Given the description of an element on the screen output the (x, y) to click on. 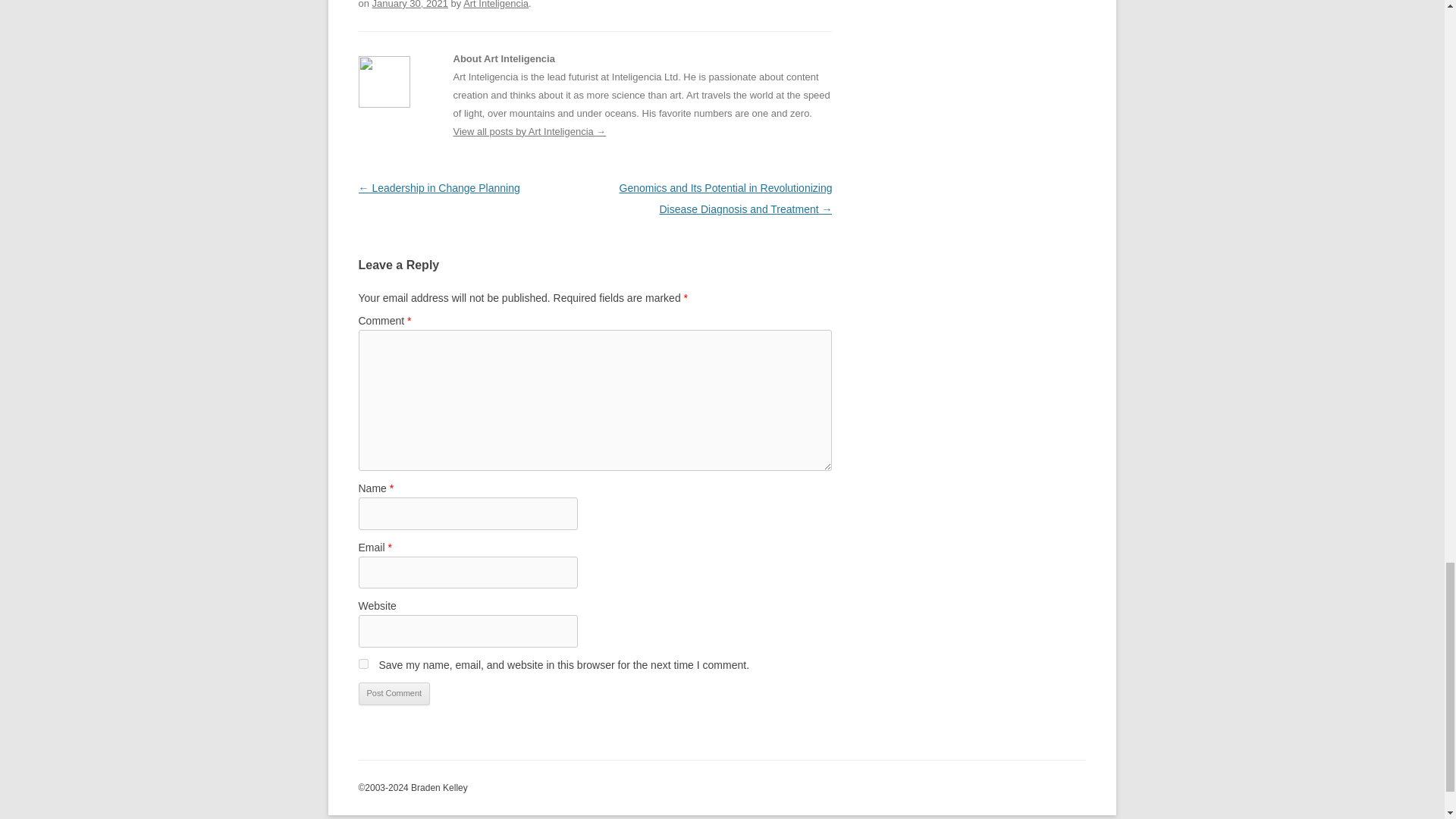
1:10 am (410, 4)
Post Comment (393, 693)
View all posts by Art Inteligencia (495, 4)
yes (363, 664)
